Given the description of an element on the screen output the (x, y) to click on. 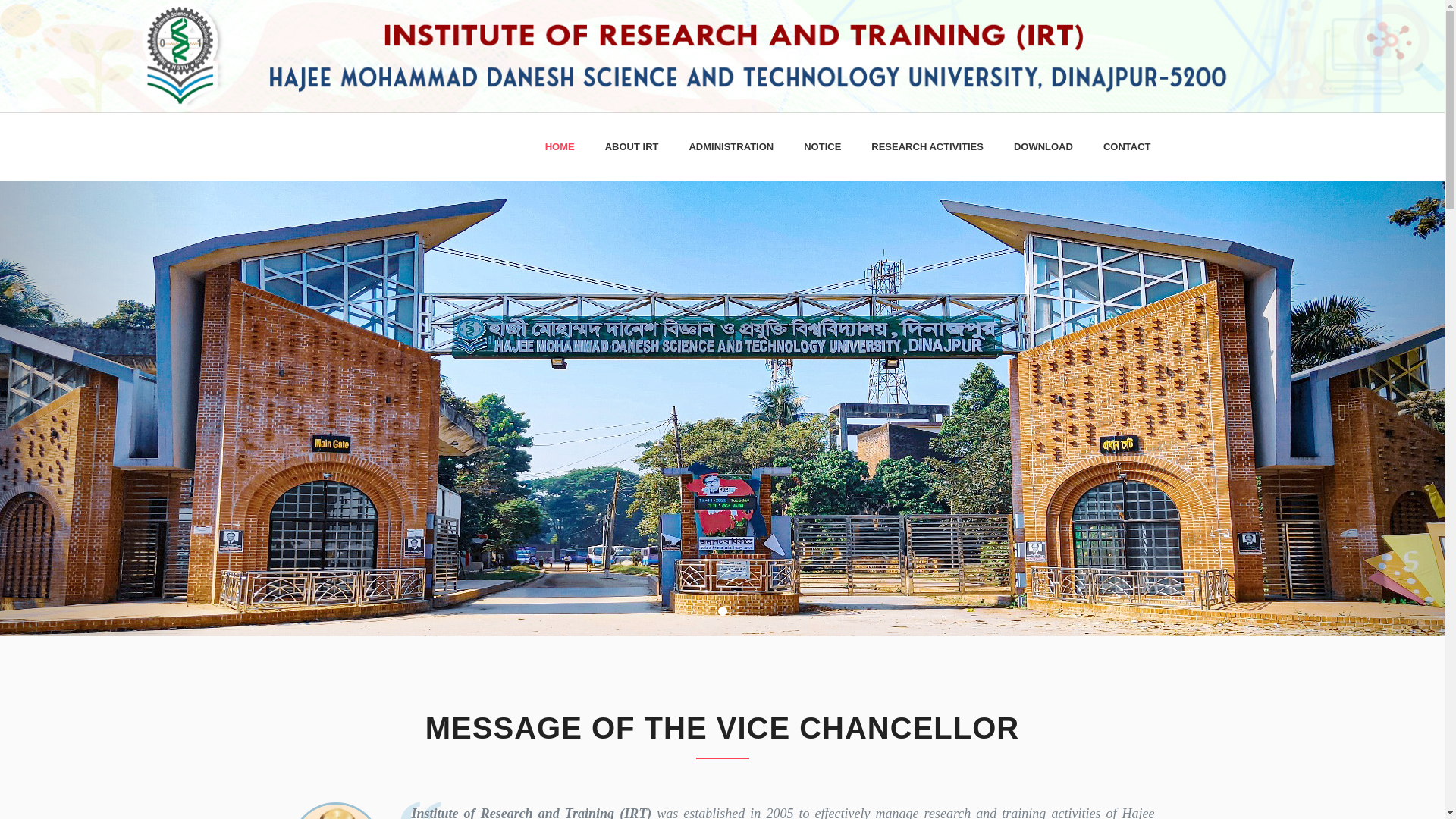
NOTICE (822, 146)
DOWNLOAD (1042, 146)
CONTACT (1126, 146)
ABOUT IRT (631, 146)
RESEARCH ACTIVITIES (927, 146)
ADMINISTRATION (730, 146)
